Given the description of an element on the screen output the (x, y) to click on. 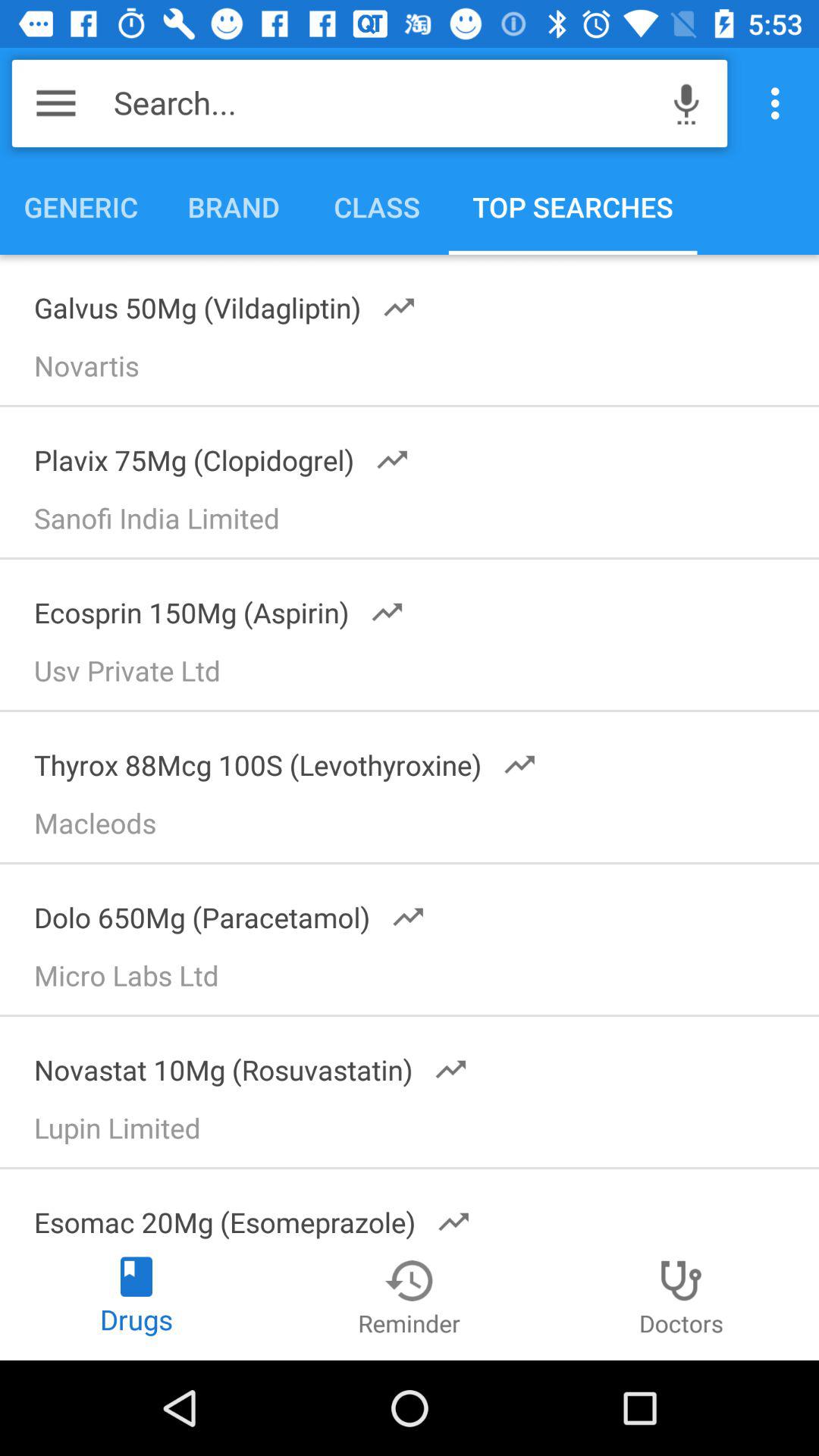
choose the sanofi india limited item (416, 523)
